Given the description of an element on the screen output the (x, y) to click on. 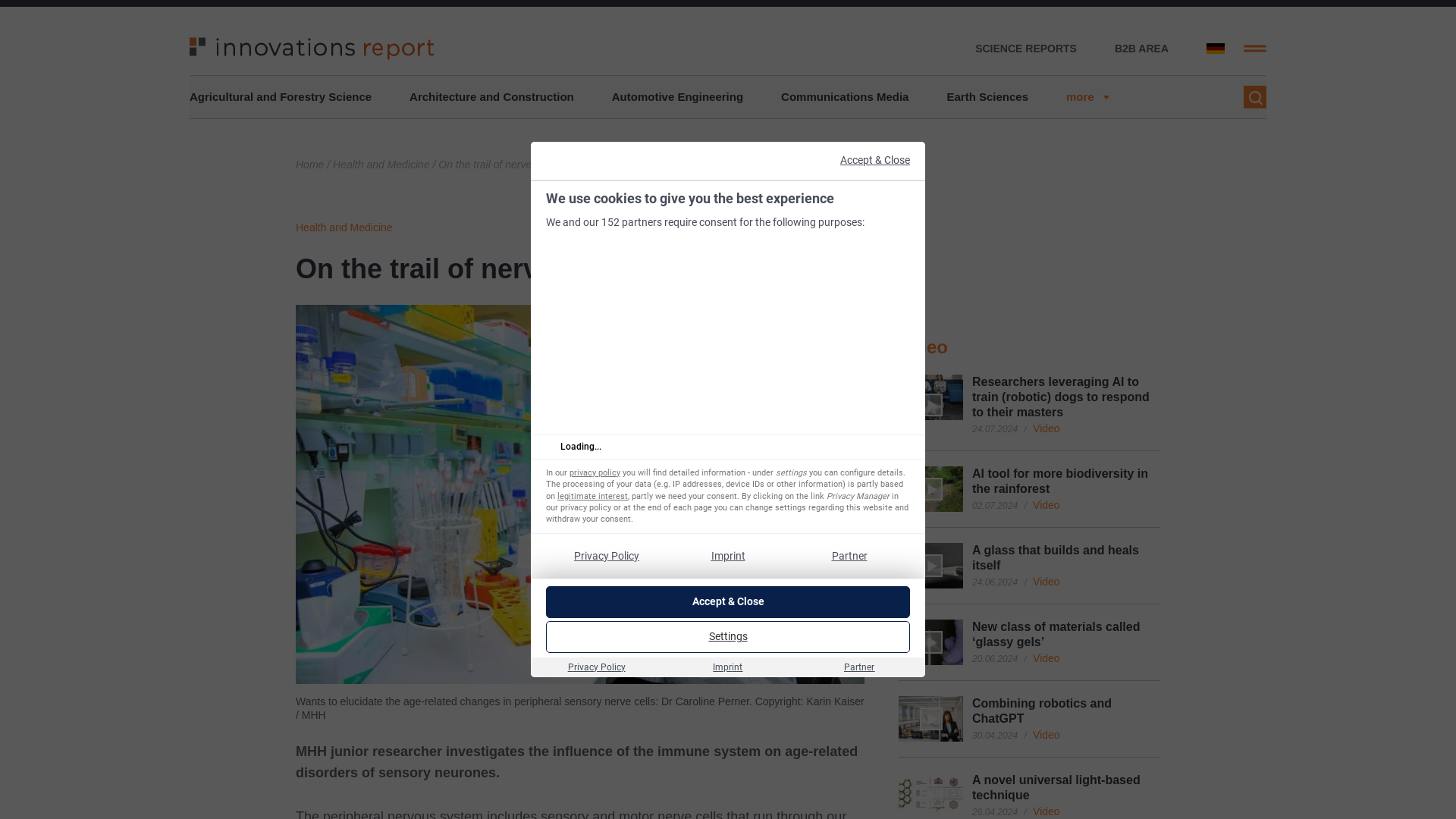
Agricultural and Forestry Science (280, 96)
Earth Sciences (986, 96)
SCIENCE REPORTS (1026, 48)
Communications Media (844, 96)
Automotive Engineering (676, 96)
Architecture and Construction (491, 96)
B2B AREA (1142, 48)
